Given the description of an element on the screen output the (x, y) to click on. 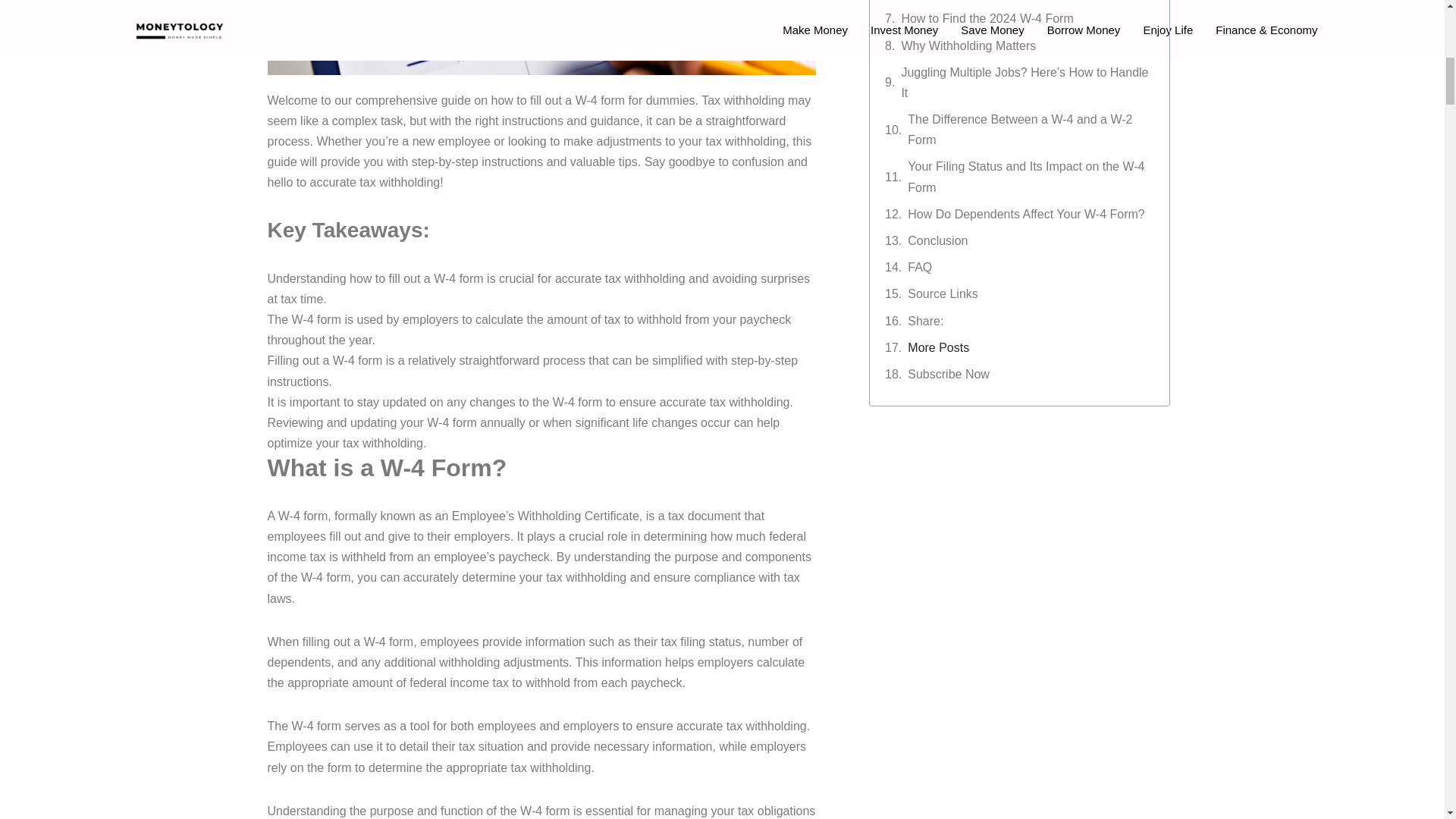
What is the W-4 Form for 2024? (987, 1)
